Given the description of an element on the screen output the (x, y) to click on. 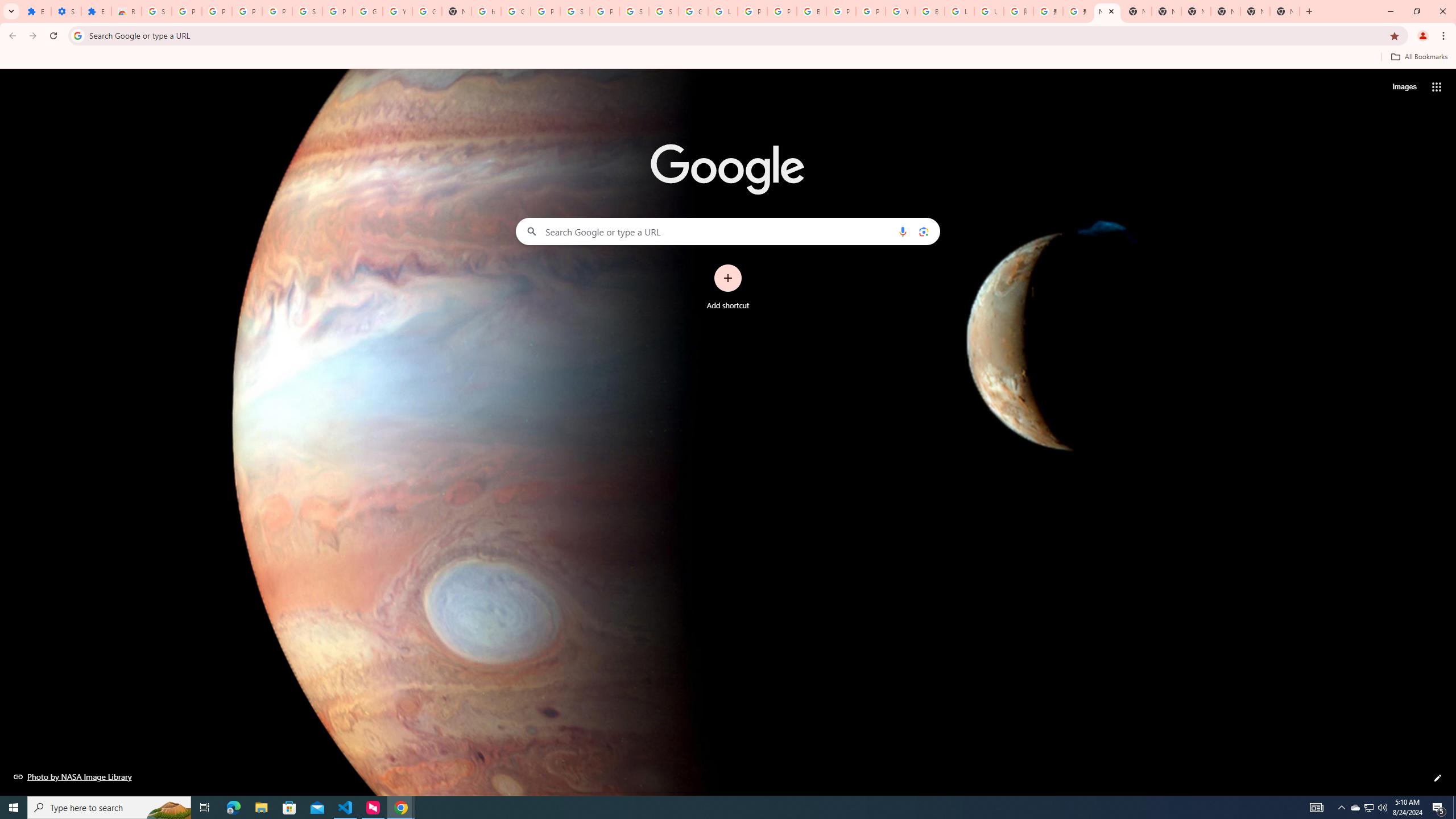
Bookmarks (728, 58)
Sign in - Google Accounts (663, 11)
Sign in - Google Accounts (574, 11)
Extensions (95, 11)
Settings (65, 11)
